Given the description of an element on the screen output the (x, y) to click on. 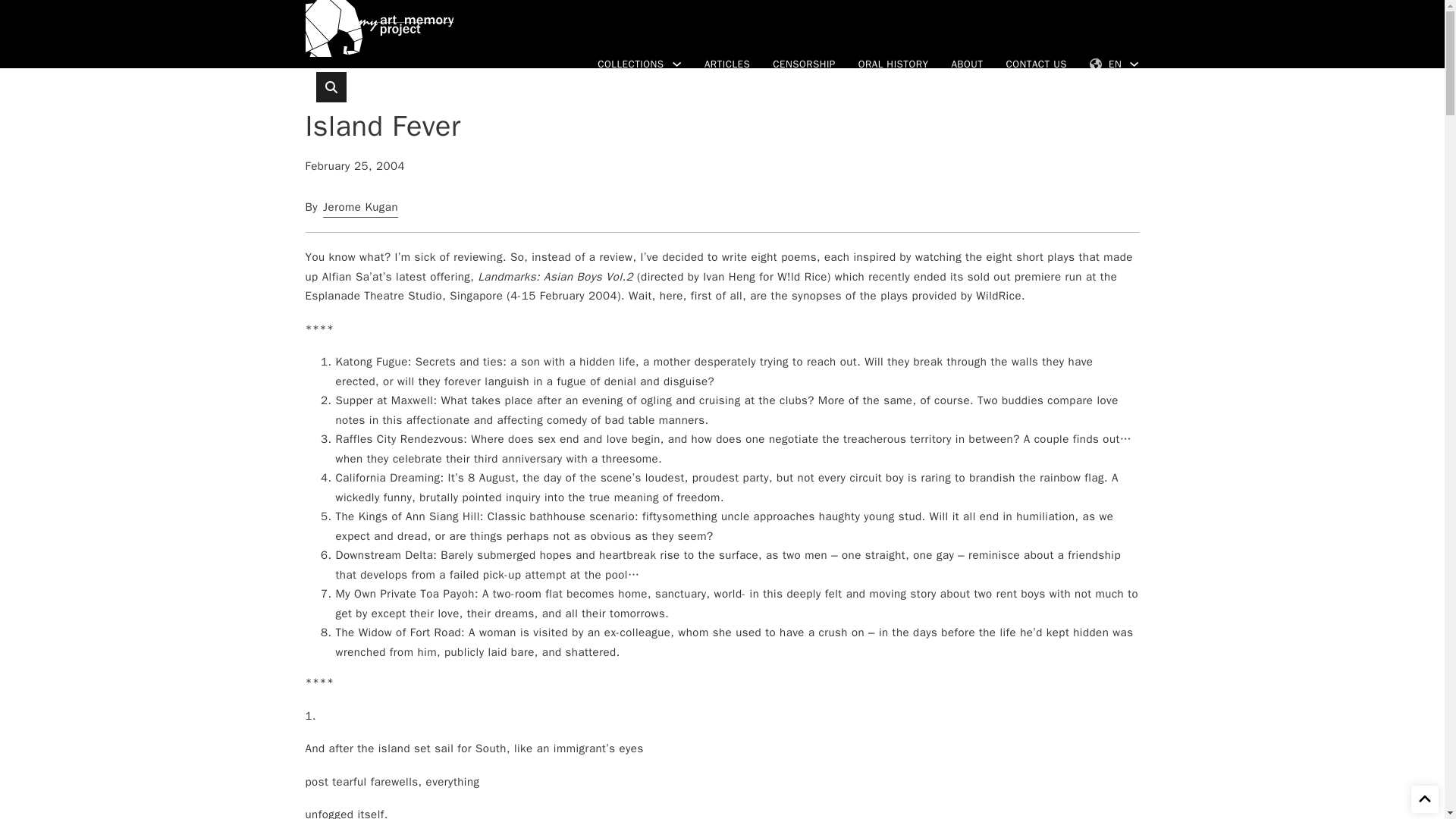
CONTACT US (1036, 64)
CENSORSHIP (804, 64)
EN (1105, 64)
ARTICLES (726, 64)
COLLECTIONS (629, 64)
ABOUT (966, 64)
EN (1105, 64)
ORAL HISTORY (893, 64)
Jerome Kugan (360, 206)
